Given the description of an element on the screen output the (x, y) to click on. 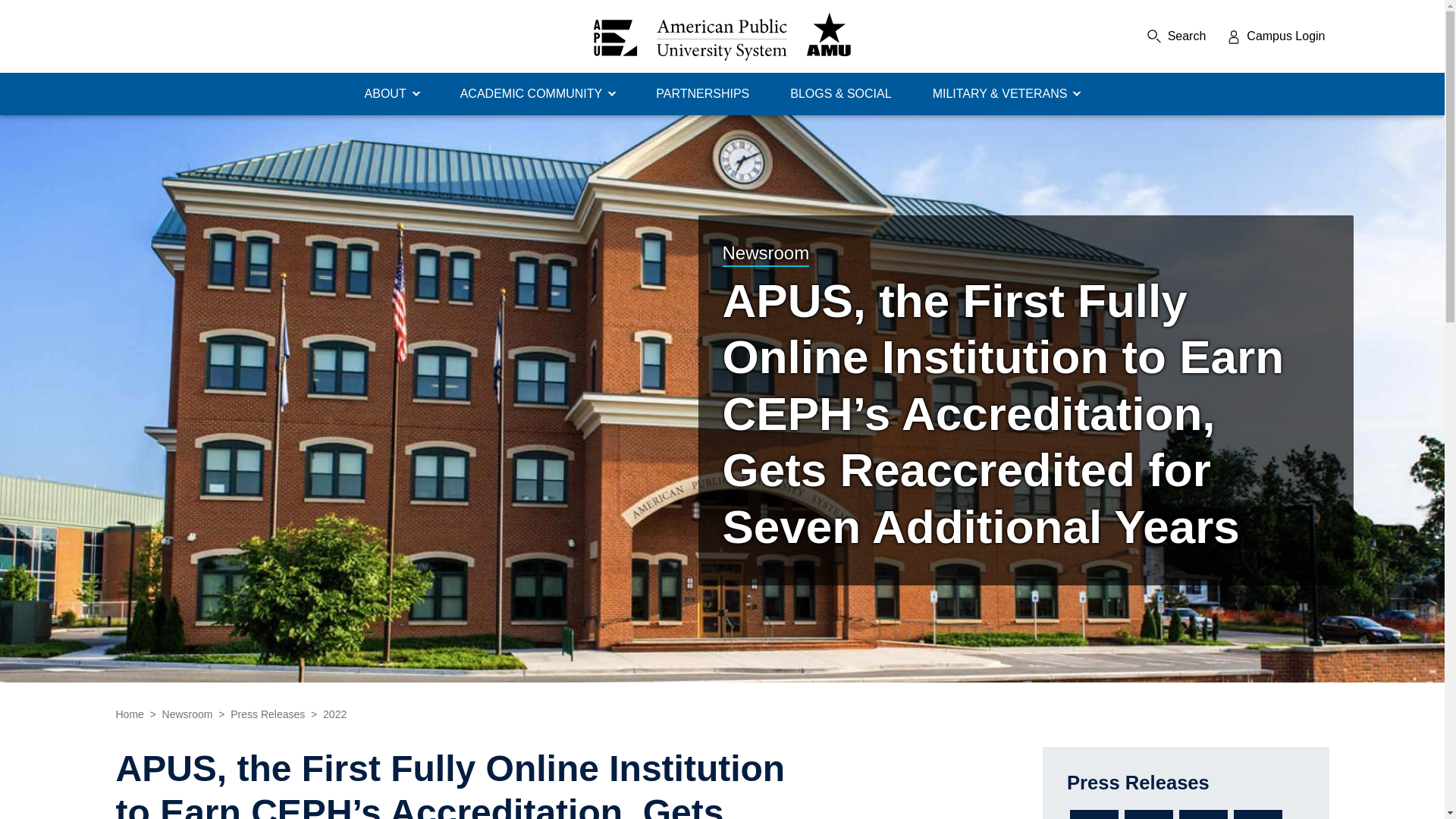
ABOUT (391, 93)
ACADEMIC COMMUNITY (537, 93)
PARTNERSHIPS (702, 93)
Submit Search (1191, 36)
Campus Login (1275, 36)
